Given the description of an element on the screen output the (x, y) to click on. 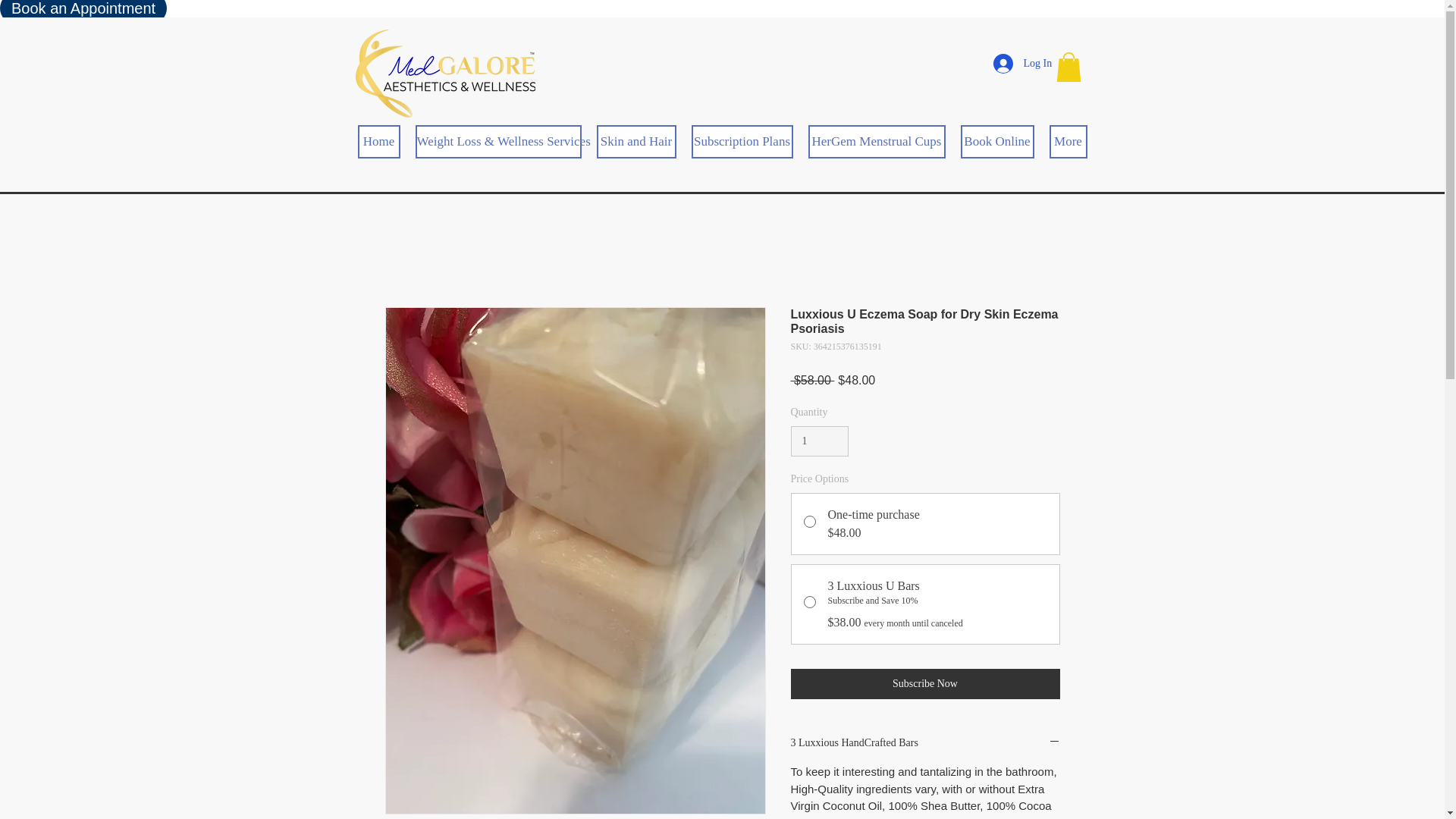
Home (379, 141)
Log In (1016, 63)
Subscribe Now (924, 684)
Subscription Plans (742, 141)
3 Luxxious HandCrafted Bars (924, 743)
medgalorfinallogo (444, 73)
Book an Appointment (83, 12)
HerGem Menstrual Cups (876, 141)
Skin and Hair (635, 141)
Book Online (996, 141)
1 (818, 441)
